Given the description of an element on the screen output the (x, y) to click on. 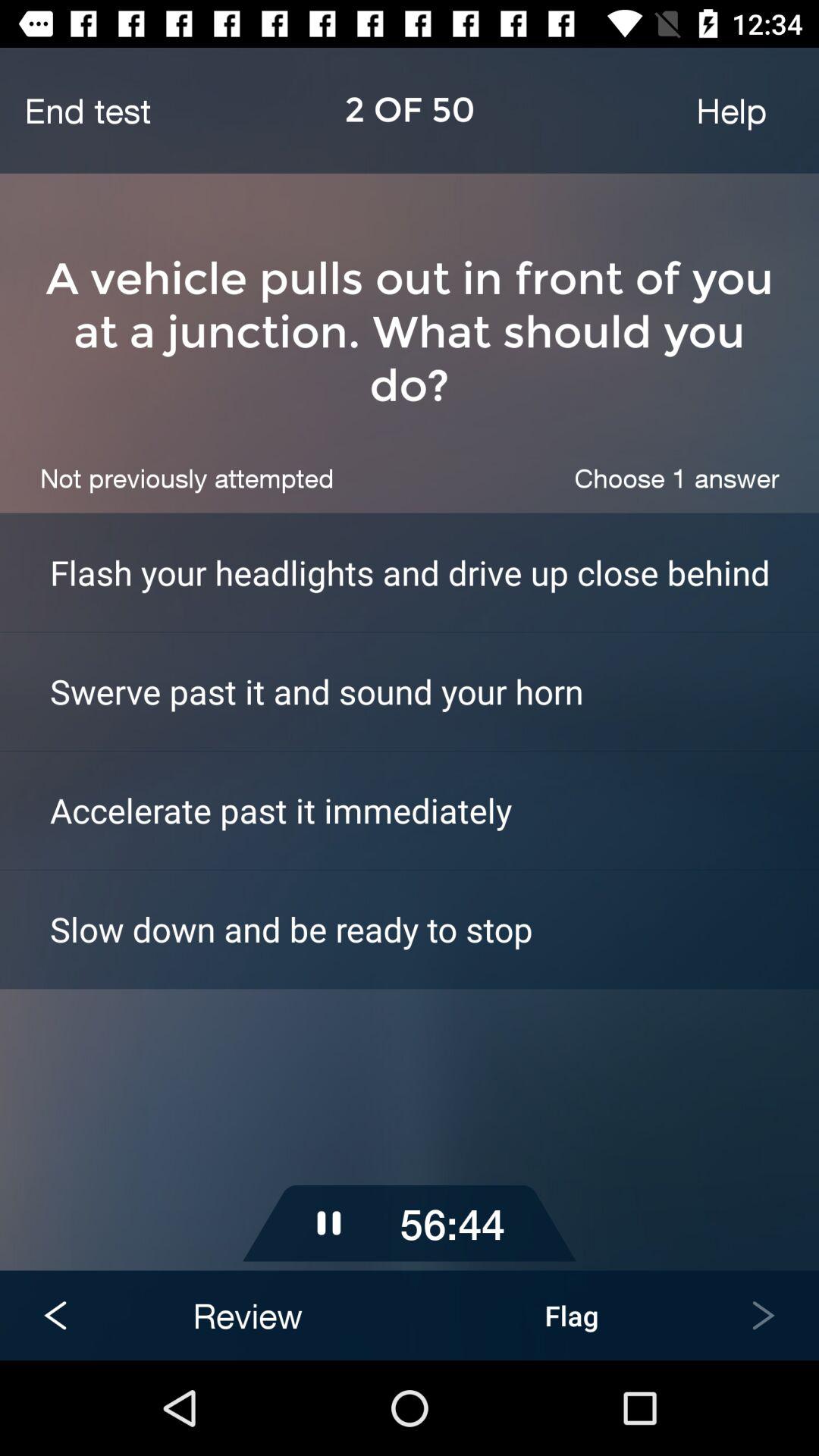
scroll to the flag (571, 1315)
